Given the description of an element on the screen output the (x, y) to click on. 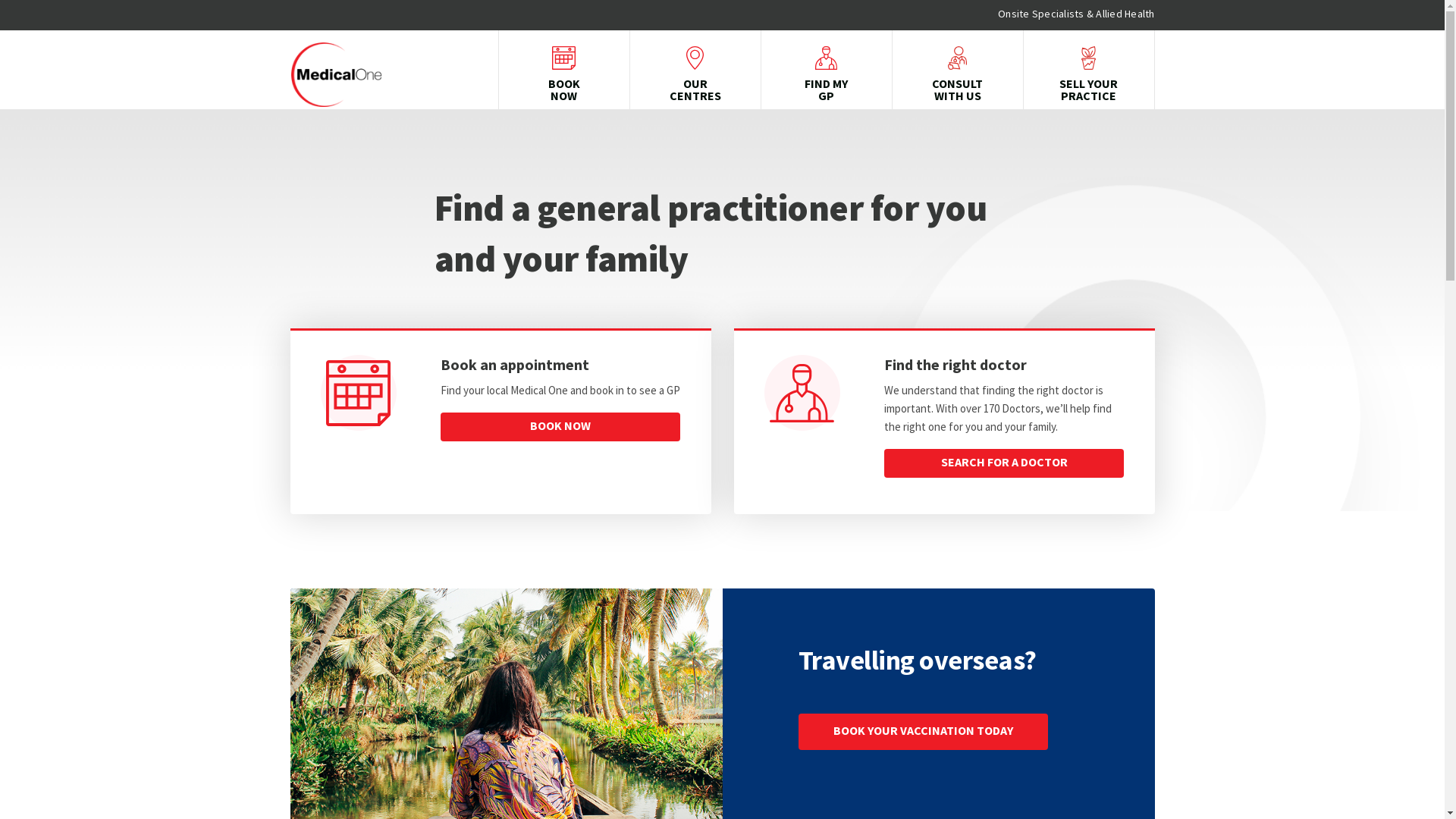
CONSULT
WITH US Element type: text (956, 74)
Onsite Specialists & Allied Health Element type: text (1075, 14)
BOOK ONLINE NOW! Element type: text (886, 764)
BOOK
NOW Element type: text (563, 74)
OUR
CENTRES Element type: text (694, 74)
Skip to main content Element type: text (0, 0)
SELL YOUR
PRACTICE Element type: text (1088, 74)
SEARCH FOR A DOCTOR Element type: text (1004, 462)
FIND MY
GP Element type: text (826, 74)
BOOK NOW Element type: text (560, 426)
